Given the description of an element on the screen output the (x, y) to click on. 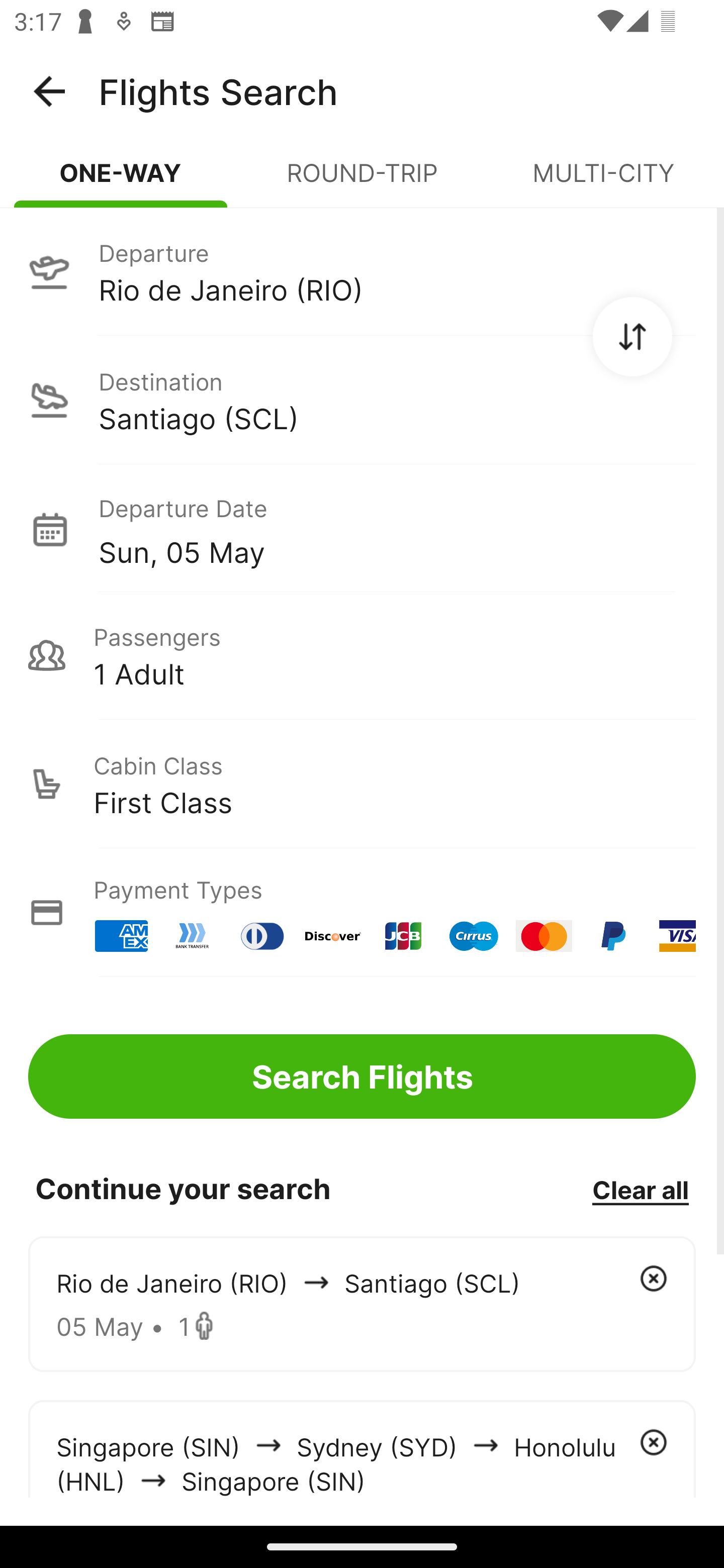
ONE-WAY (120, 180)
ROUND-TRIP (361, 180)
MULTI-CITY (603, 180)
Departure Rio de Janeiro (RIO) (362, 270)
Destination Santiago (SCL) (362, 400)
Departure Date Sun, 05 May (396, 528)
Passengers 1 Adult (362, 655)
Cabin Class First Class (362, 783)
Payment Types (362, 912)
Search Flights (361, 1075)
Clear all (640, 1189)
